Given the description of an element on the screen output the (x, y) to click on. 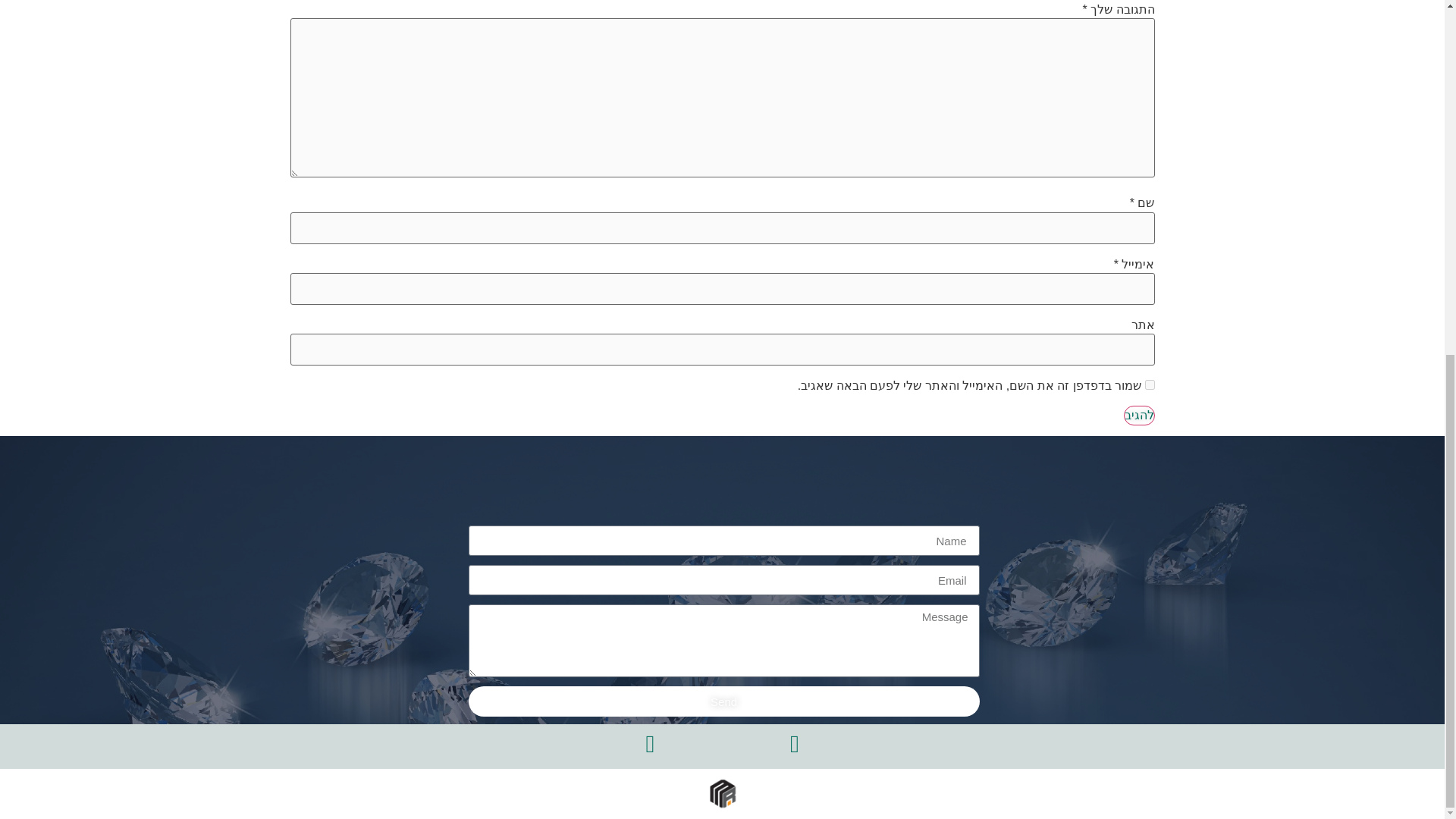
Send (723, 701)
logo (721, 793)
yes (1149, 384)
